Given the description of an element on the screen output the (x, y) to click on. 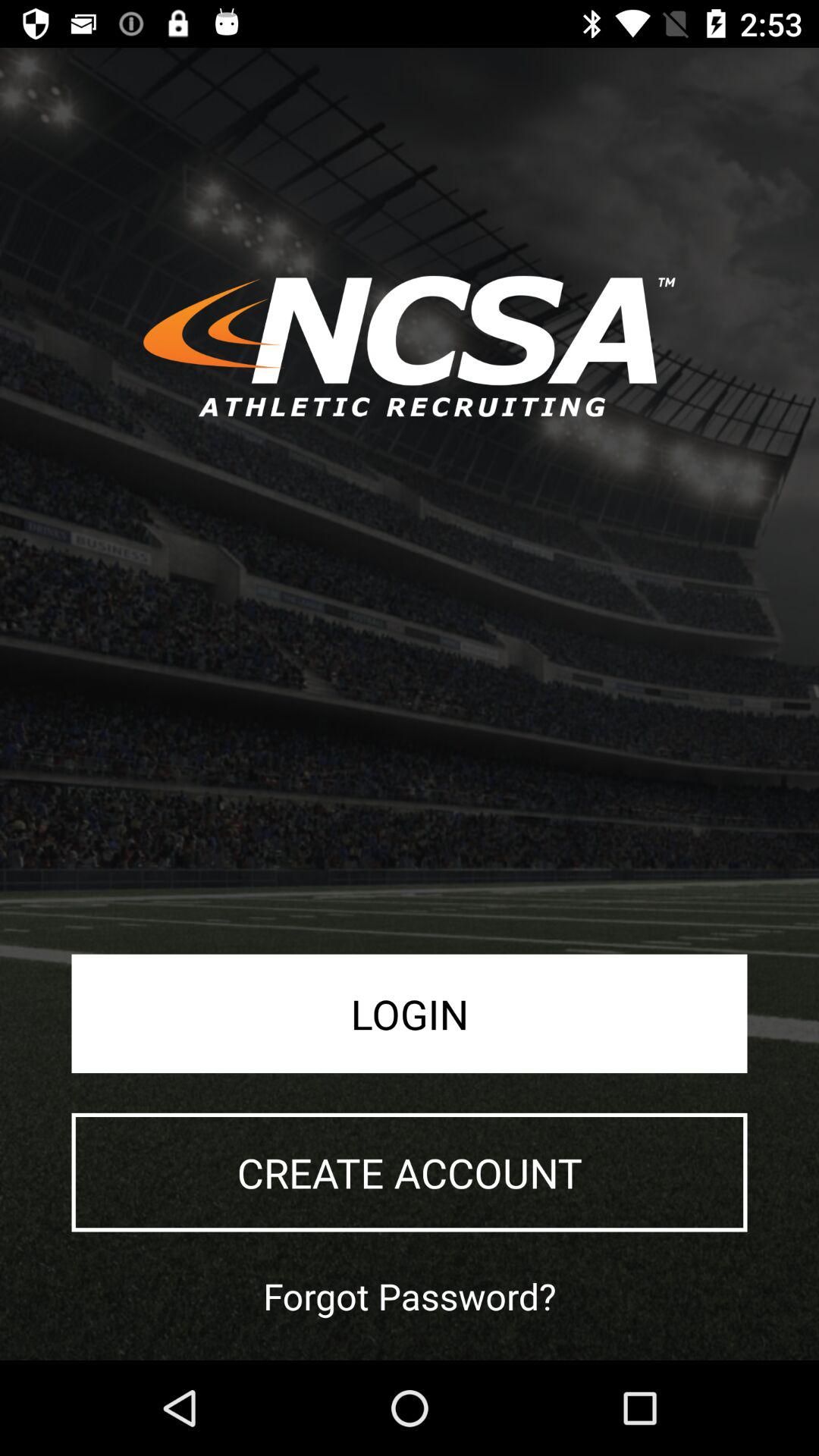
turn on icon below create account item (409, 1295)
